Given the description of an element on the screen output the (x, y) to click on. 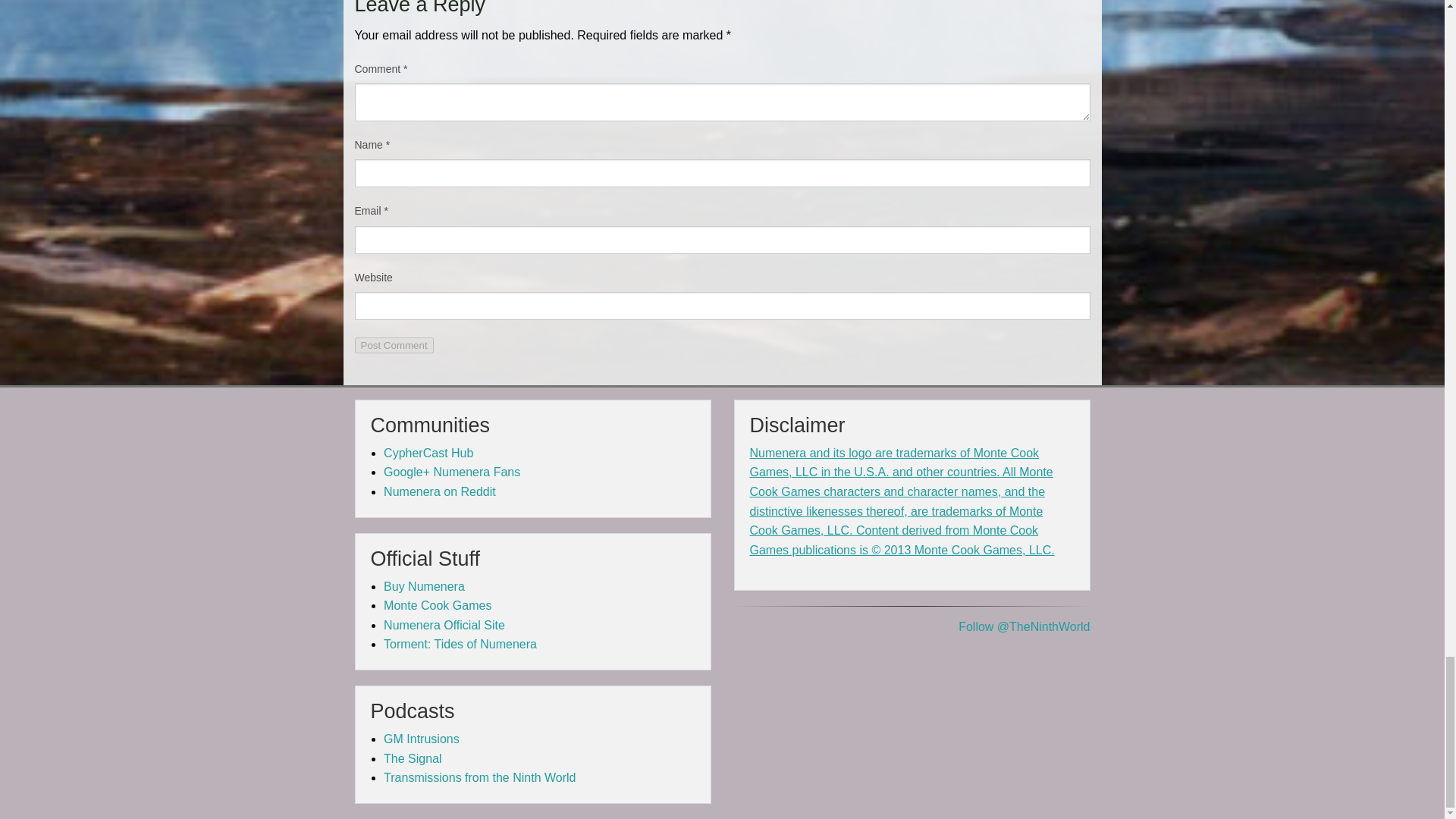
Read Full Disclaimer (901, 501)
Post Comment (394, 344)
